Given the description of an element on the screen output the (x, y) to click on. 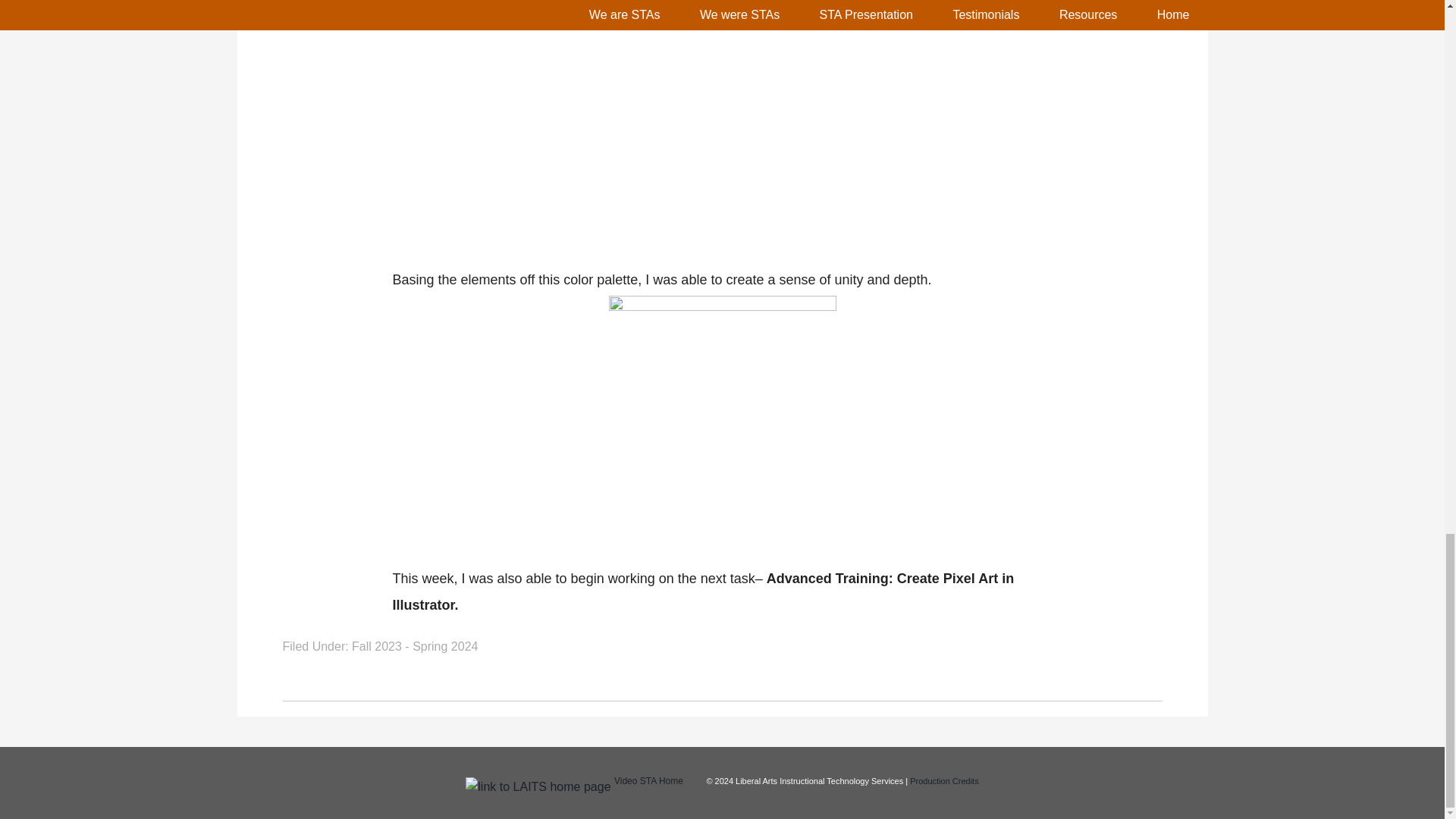
Video STA Home (648, 780)
Fall 2023 - Spring 2024 (414, 645)
Production Credits (944, 780)
